Given the description of an element on the screen output the (x, y) to click on. 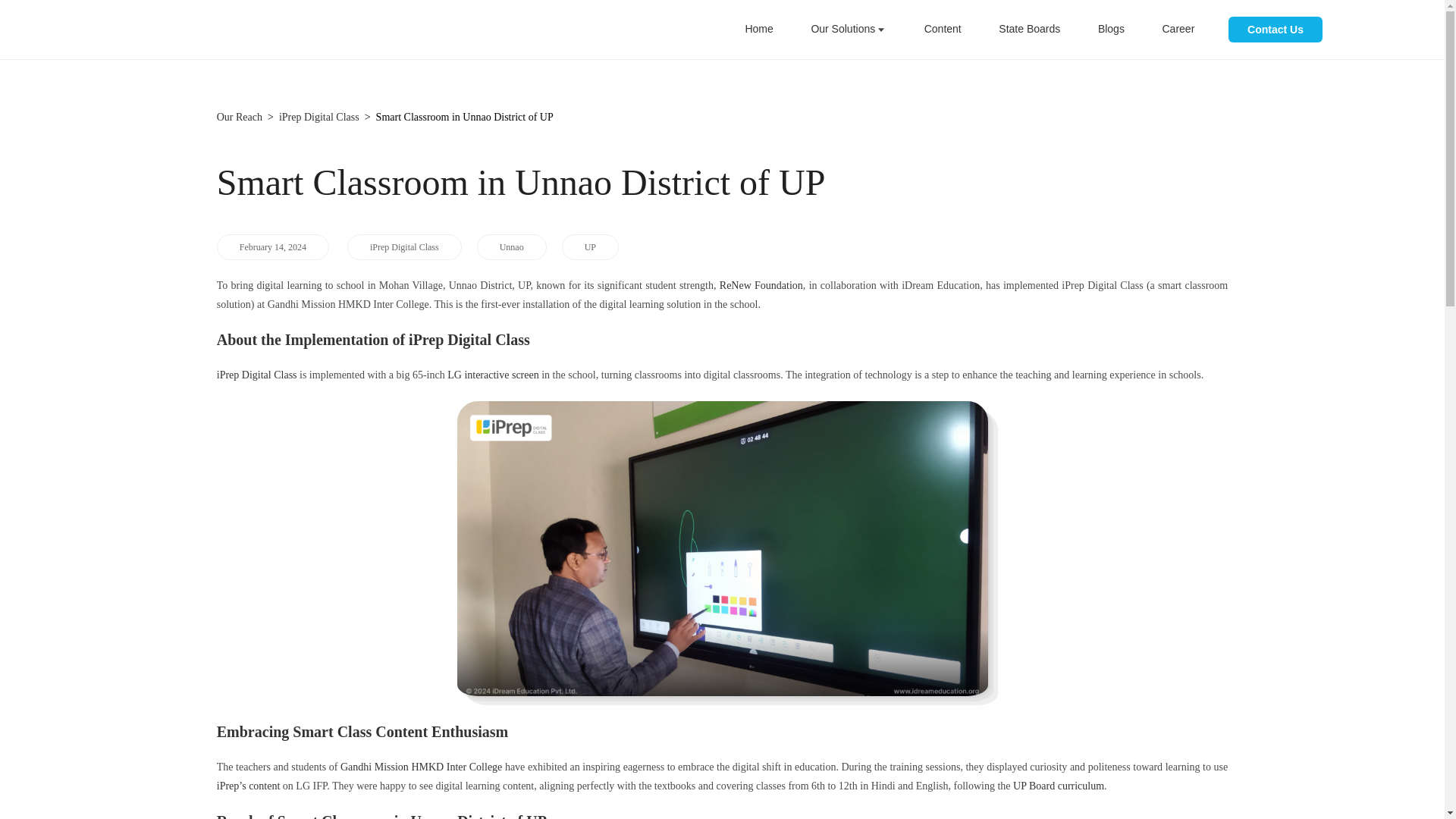
Our Reach (239, 116)
Our Solutions (846, 28)
Blogs (1111, 28)
UP Board curriculum (1058, 785)
Career (1178, 28)
Home (758, 28)
Gandhi Mission HMKD Inter College (421, 767)
UP (590, 247)
LG interactive screen (492, 374)
Content (942, 28)
